Given the description of an element on the screen output the (x, y) to click on. 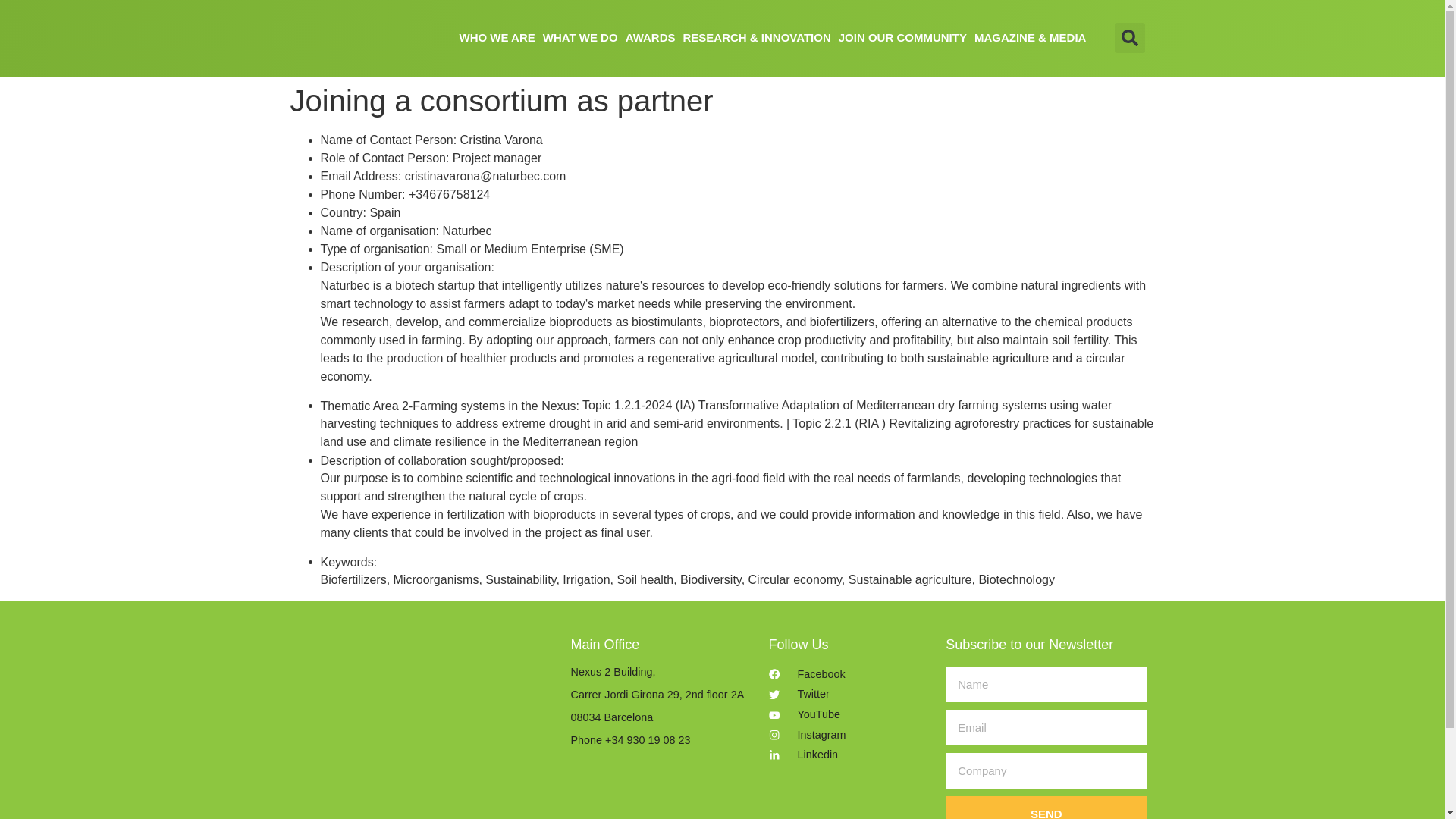
AWARDS (650, 37)
JOIN OUR COMMUNITY (902, 37)
WHAT WE DO (579, 37)
WHO WE ARE (496, 37)
